Given the description of an element on the screen output the (x, y) to click on. 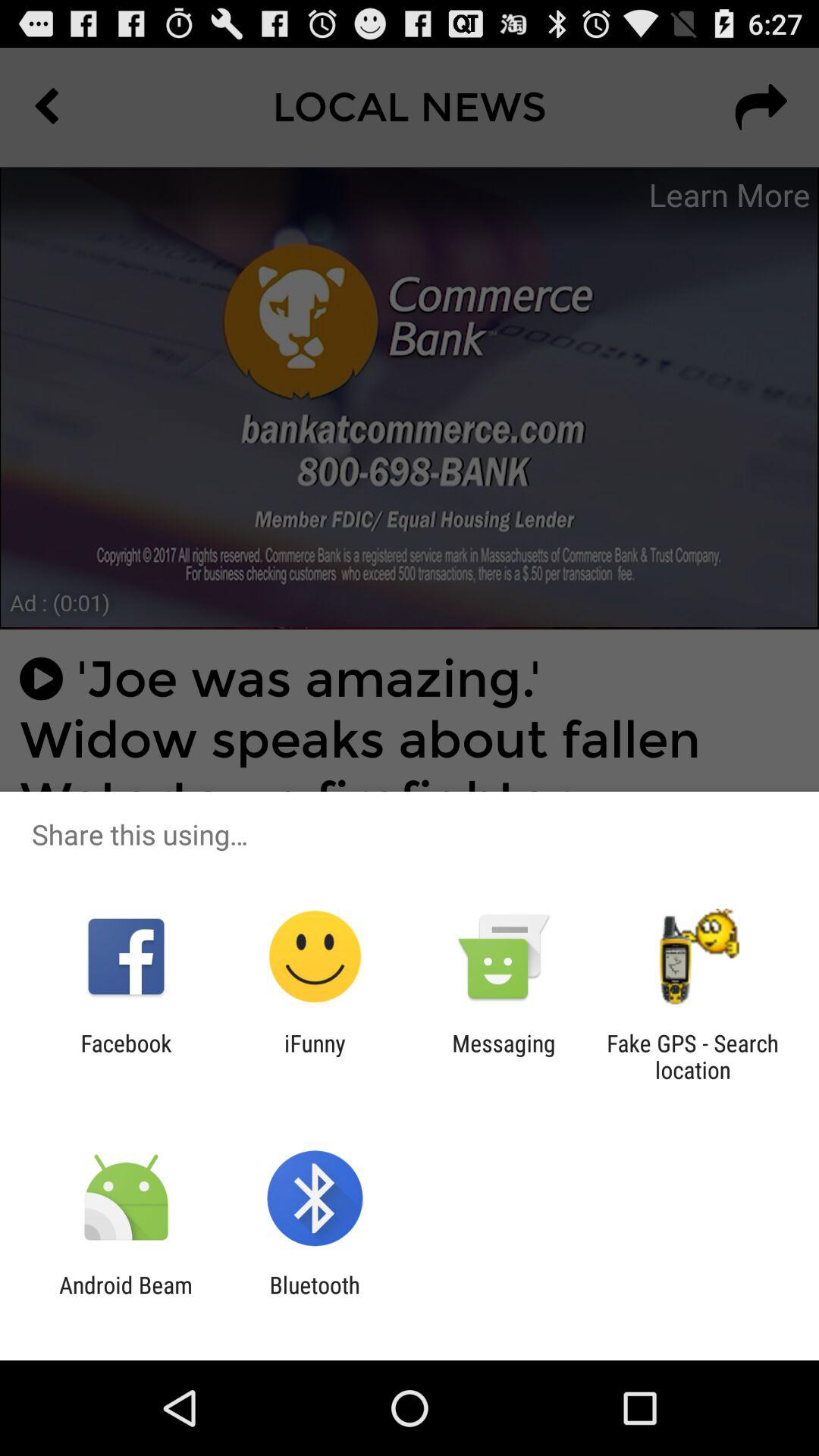
turn off app to the left of the bluetooth app (125, 1298)
